Given the description of an element on the screen output the (x, y) to click on. 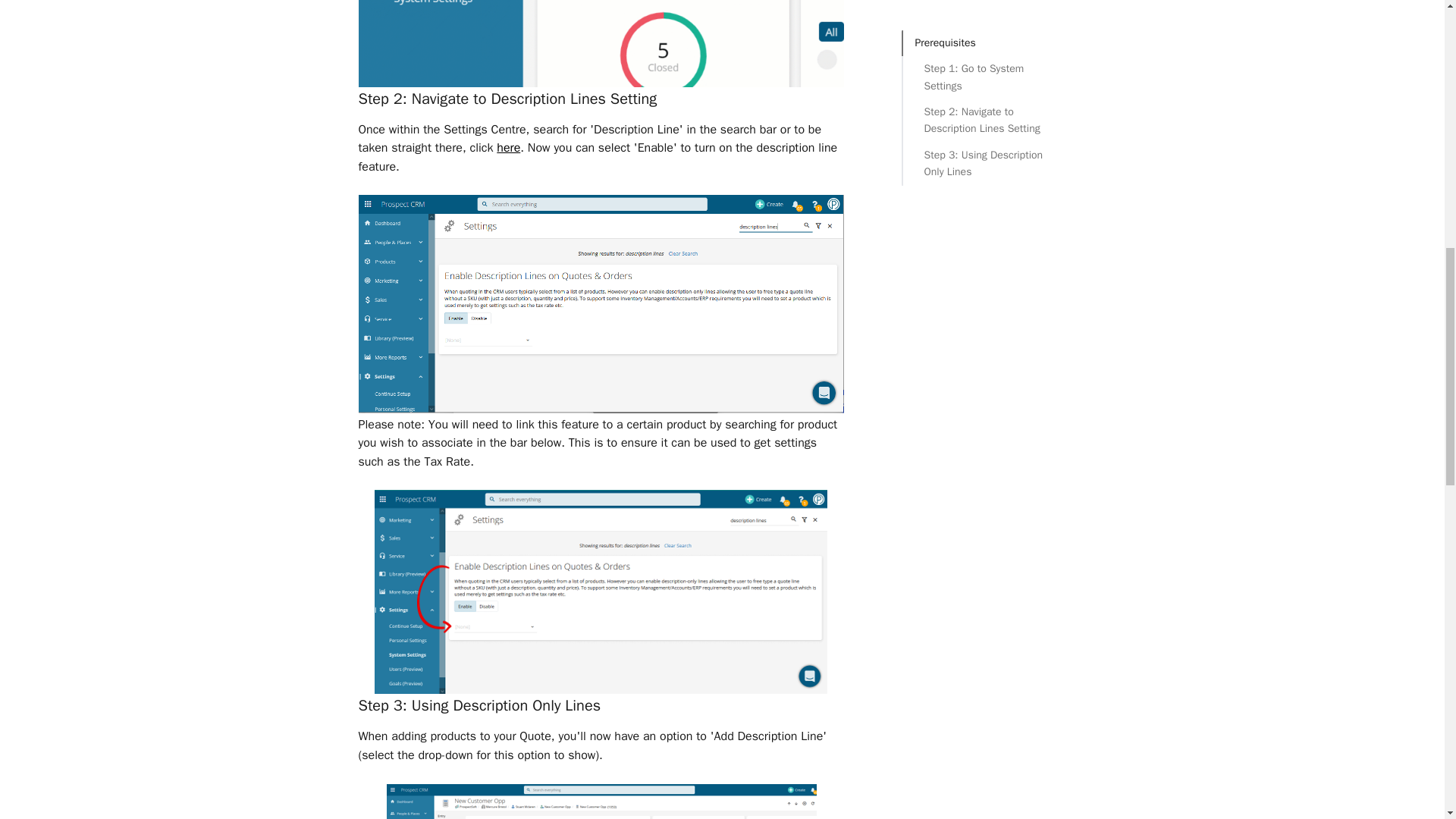
here (507, 147)
